Given the description of an element on the screen output the (x, y) to click on. 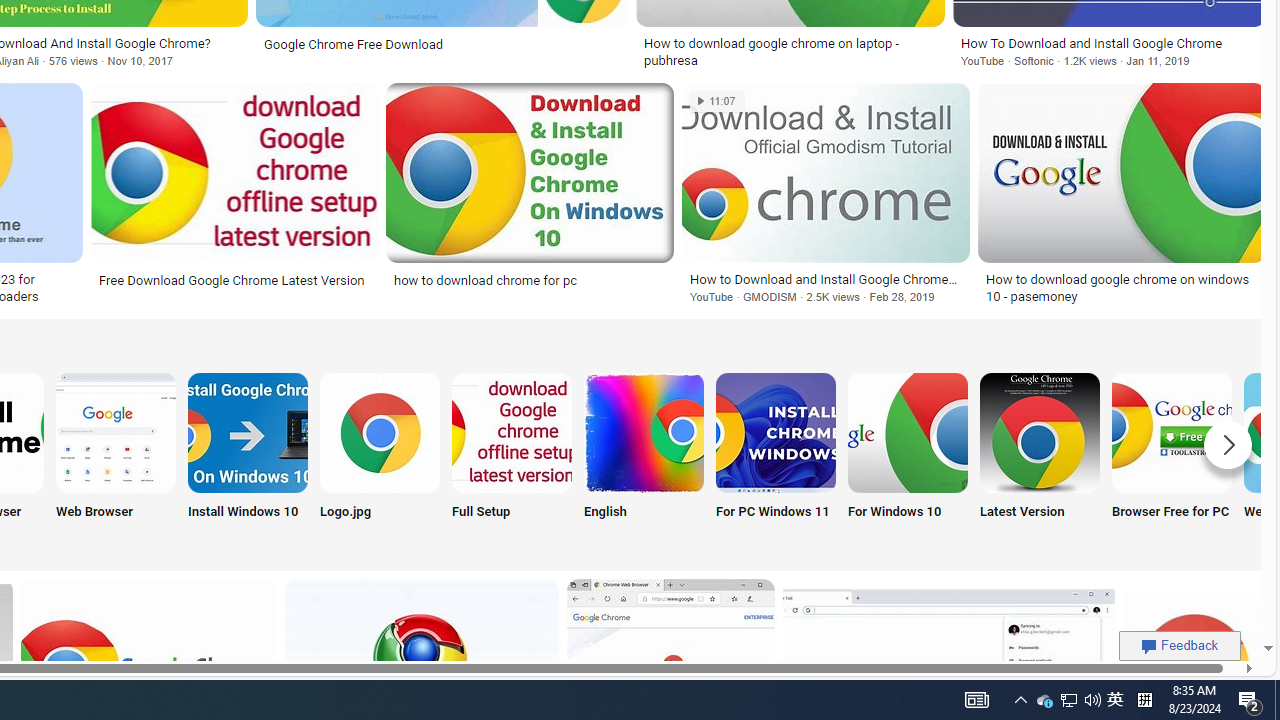
How to Download and Install Google Chrome for Windows 10 (825, 279)
Google Chrome Free Download (441, 44)
Google Chrome Logo Jpg Download (380, 432)
Logo.jpg (380, 457)
For Windows 10 (907, 457)
Google Chrome Download and Install Windows 10 (248, 432)
Image result for Google Chrome UK Download (1121, 172)
Image result for Google Chrome UK Download (1121, 172)
how to download chrome for pc (485, 279)
Free Download Google Chrome Latest Version (231, 279)
how to download chrome for pc (529, 279)
For PC Windows 11 (775, 457)
